Given the description of an element on the screen output the (x, y) to click on. 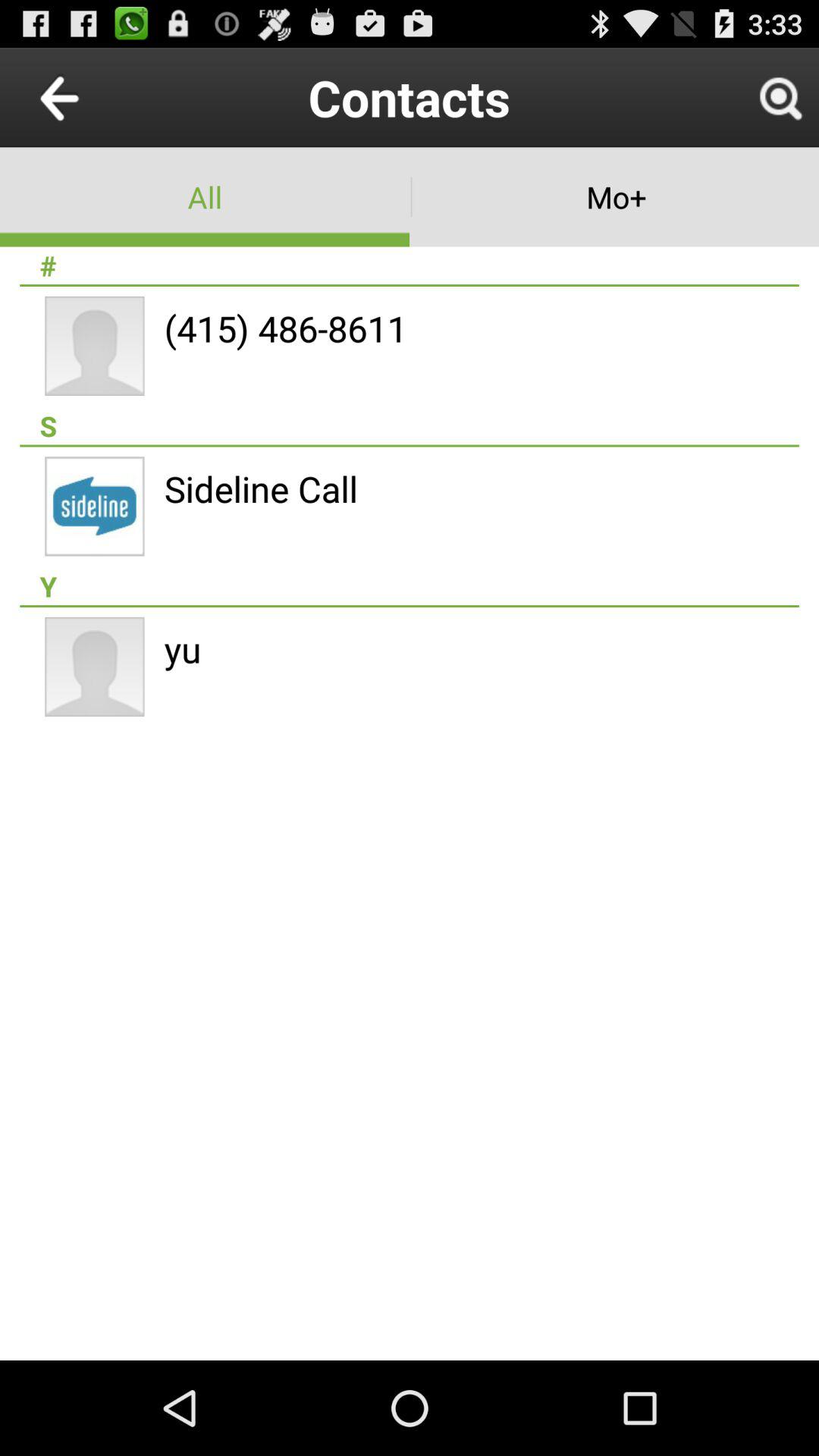
turn on item below all (409, 265)
